Given the description of an element on the screen output the (x, y) to click on. 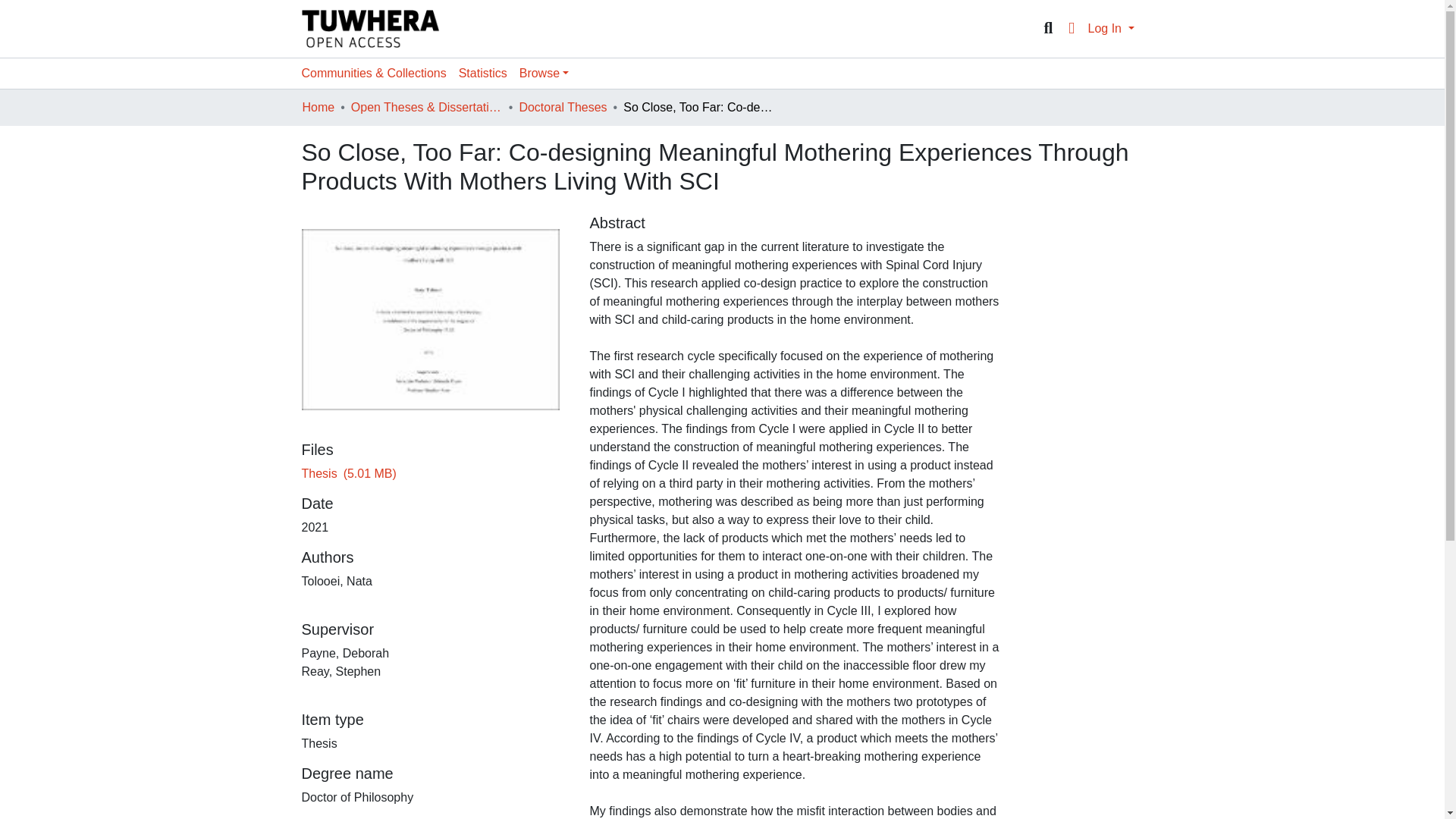
Log In (1110, 28)
Language switch (1071, 28)
Statistics (482, 73)
Statistics (482, 73)
Browse (544, 73)
Doctoral Theses (562, 107)
Home (317, 107)
Search (1048, 28)
